Given the description of an element on the screen output the (x, y) to click on. 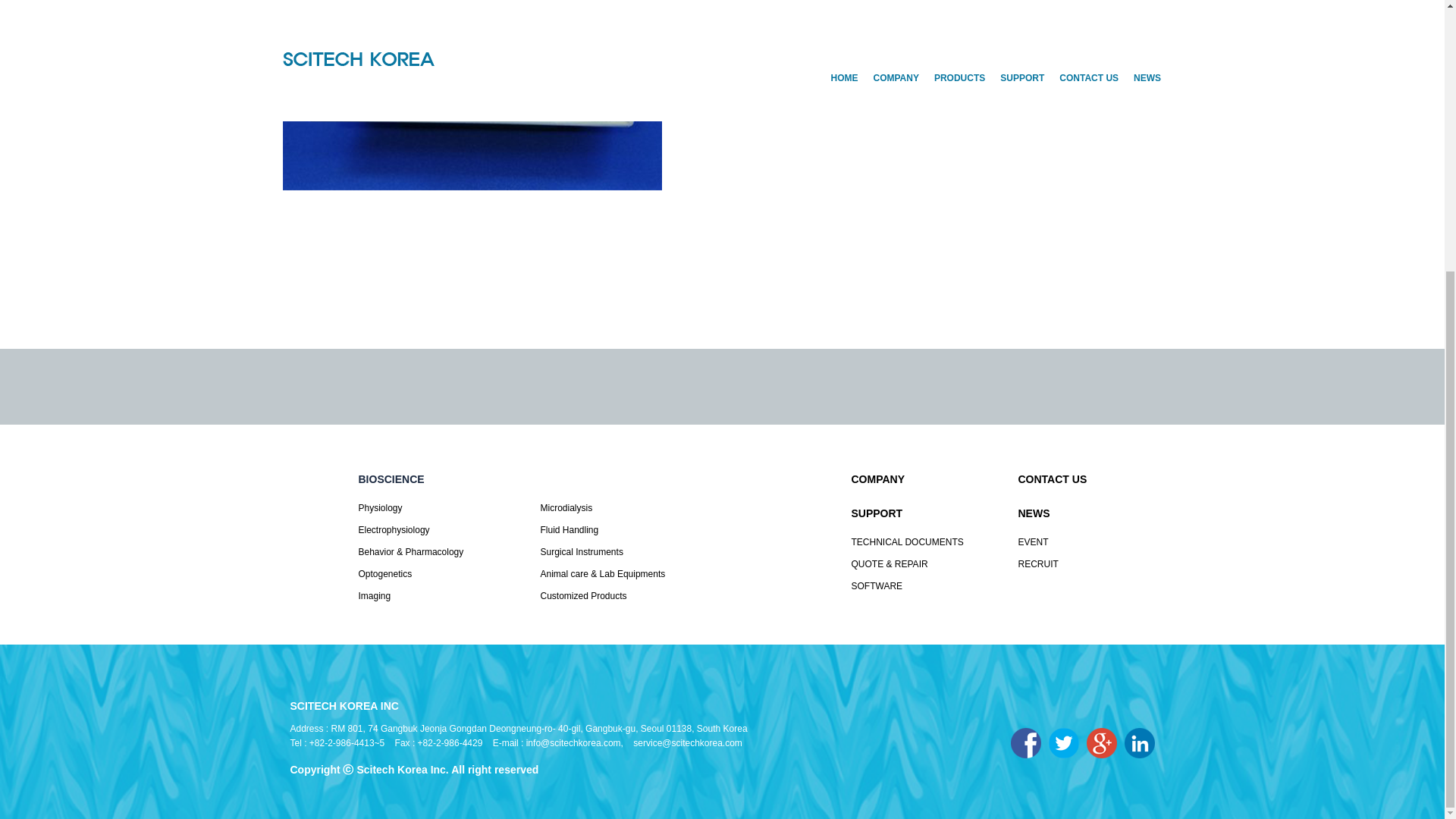
Electrophysiology (435, 529)
Physiology (435, 507)
READ MORE (763, 69)
Imaging (435, 595)
Fluid Handling (617, 529)
QUOTE (862, 69)
Surgical Instruments (617, 551)
Optogenetics (435, 573)
Microdialysis (617, 507)
